Given the description of an element on the screen output the (x, y) to click on. 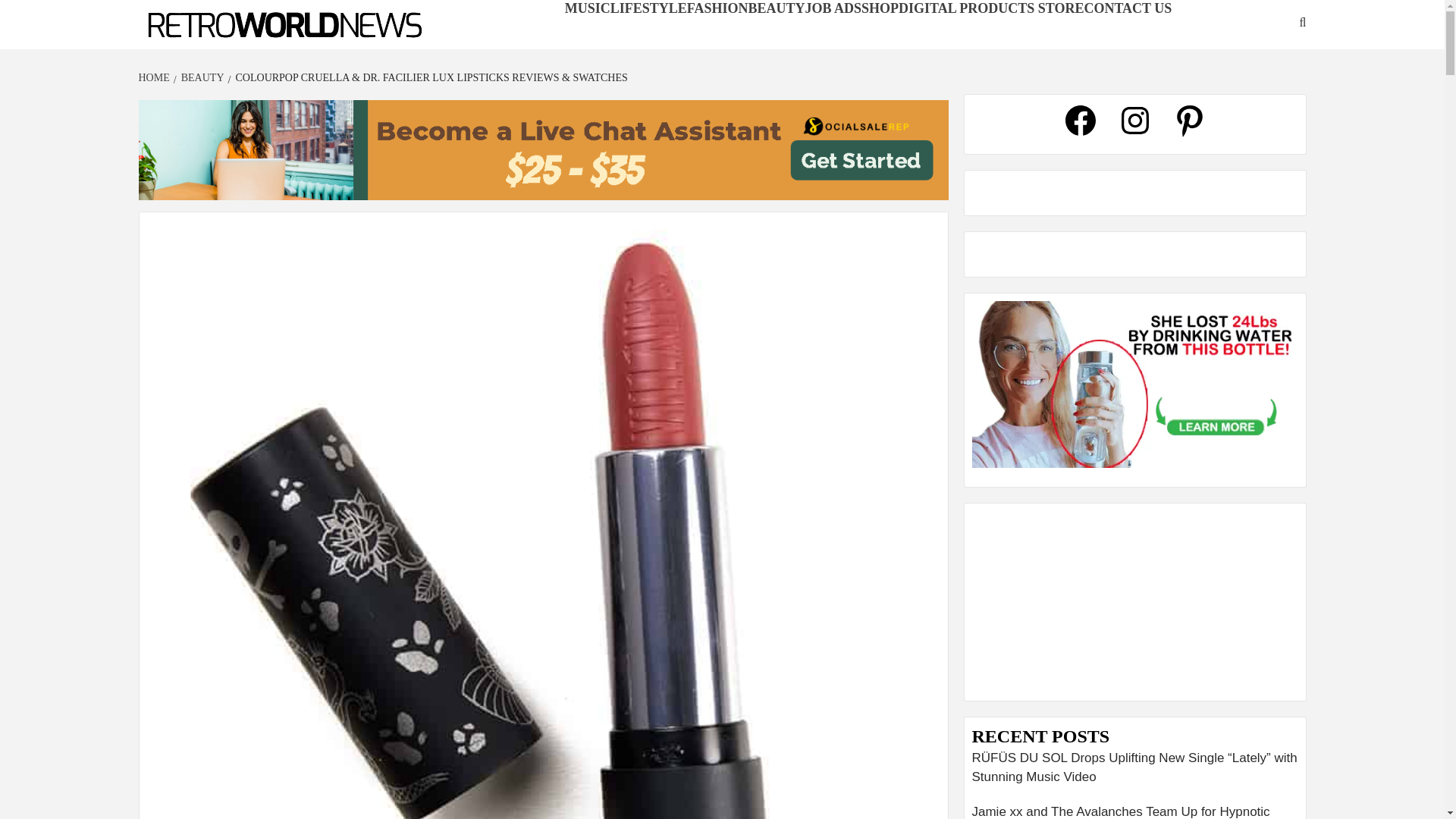
MUSIC (587, 7)
JOB ADS (833, 7)
RETROWORLDNEWS (223, 48)
HOME (155, 77)
CONTACT US (1127, 7)
BEAUTY (776, 7)
LIFESTYLE (648, 7)
FASHION (717, 7)
SHOP (879, 7)
DIGITAL PRODUCTS STORE (990, 7)
